Given the description of an element on the screen output the (x, y) to click on. 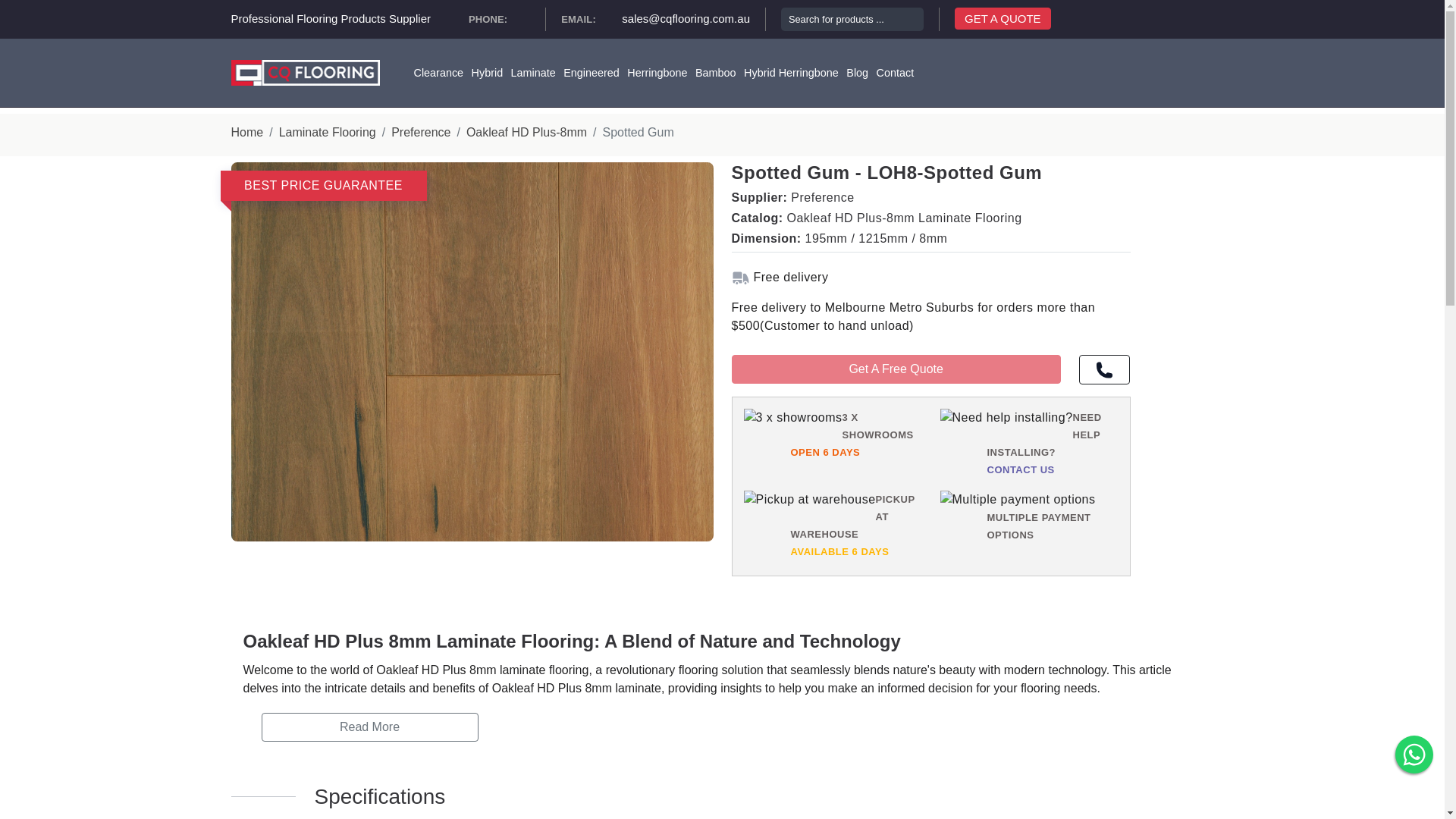
CONTACT US (1020, 469)
Laminate Flooring (327, 132)
Oakleaf HD Plus-8mm (525, 132)
Blog (856, 72)
GET A QUOTE (1003, 18)
Get A Free Quote (894, 369)
Bamboo (715, 72)
Clearance (438, 72)
Read More (368, 727)
Contact (895, 72)
Hybrid Herringbone (791, 72)
Home (246, 132)
Herringbone (657, 72)
Preference (420, 132)
Engineered (591, 72)
